Given the description of an element on the screen output the (x, y) to click on. 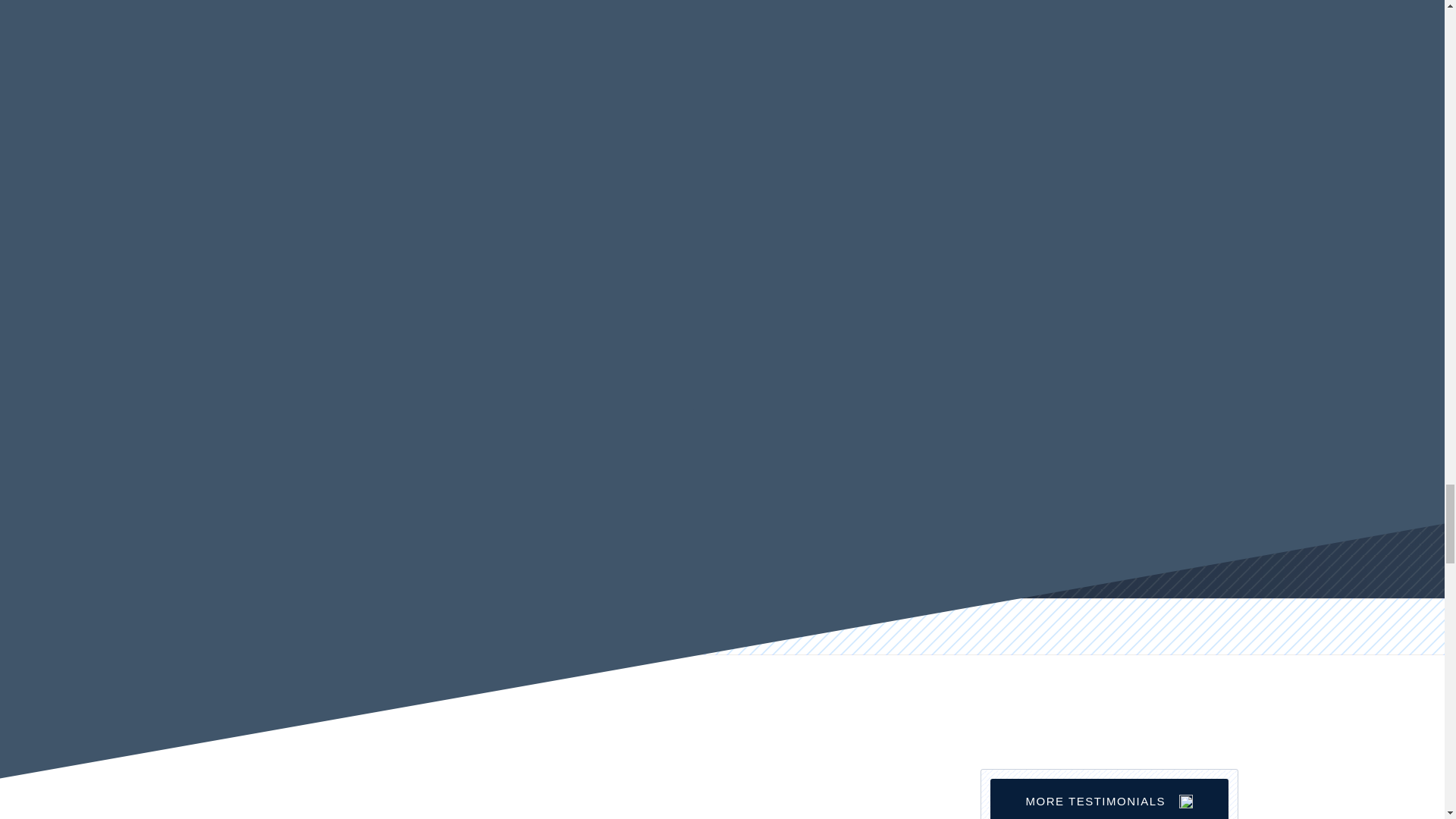
MORE TESTIMONIALS (1108, 794)
LEARN MORE (1135, 132)
